Given the description of an element on the screen output the (x, y) to click on. 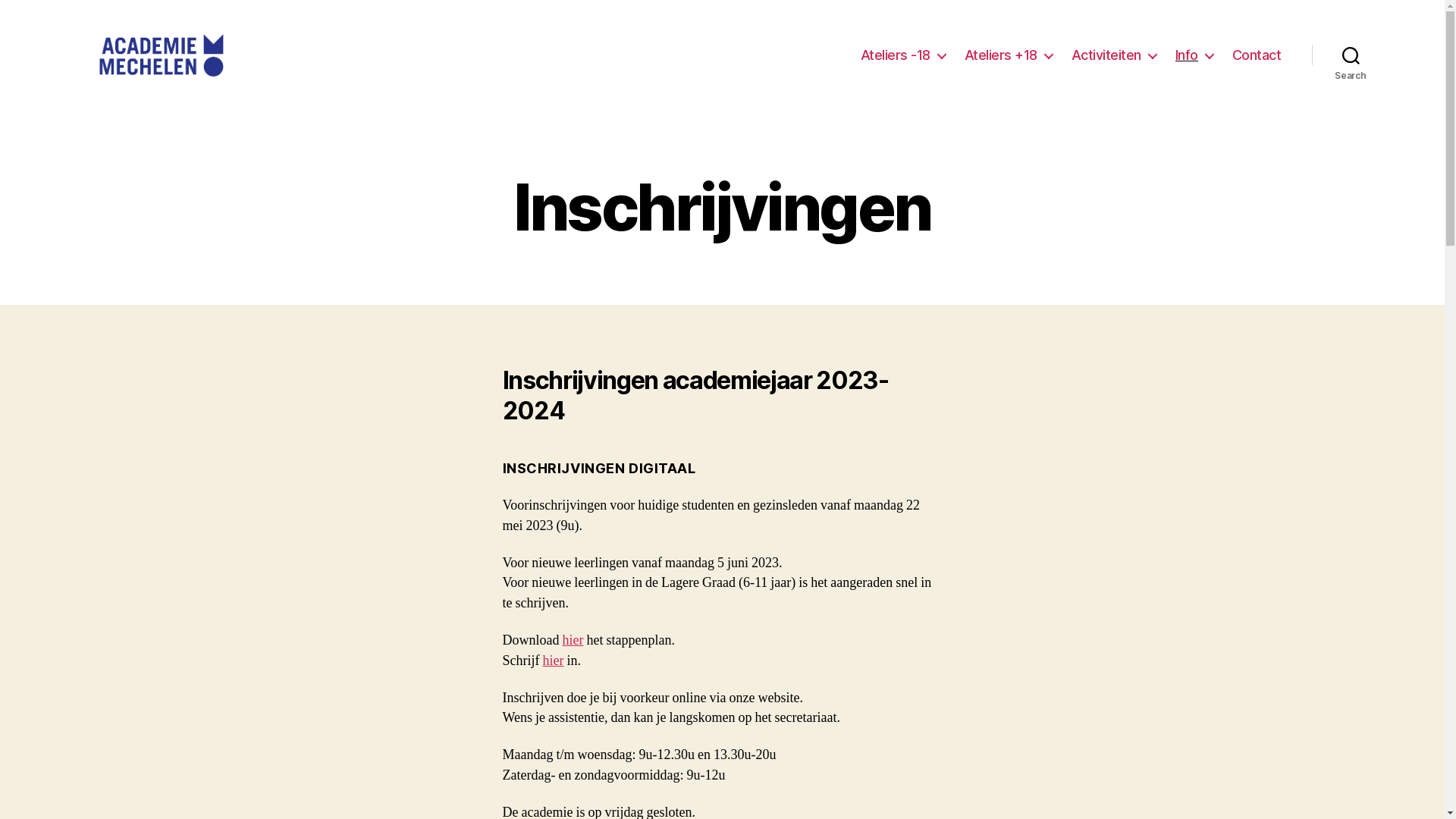
Ateliers +18 Element type: text (1008, 55)
Info Element type: text (1194, 55)
Contact Element type: text (1256, 55)
Ateliers -18 Element type: text (902, 55)
hier Element type: text (572, 640)
Search Element type: text (1350, 55)
Activiteiten Element type: text (1113, 55)
hier Element type: text (553, 660)
